Given the description of an element on the screen output the (x, y) to click on. 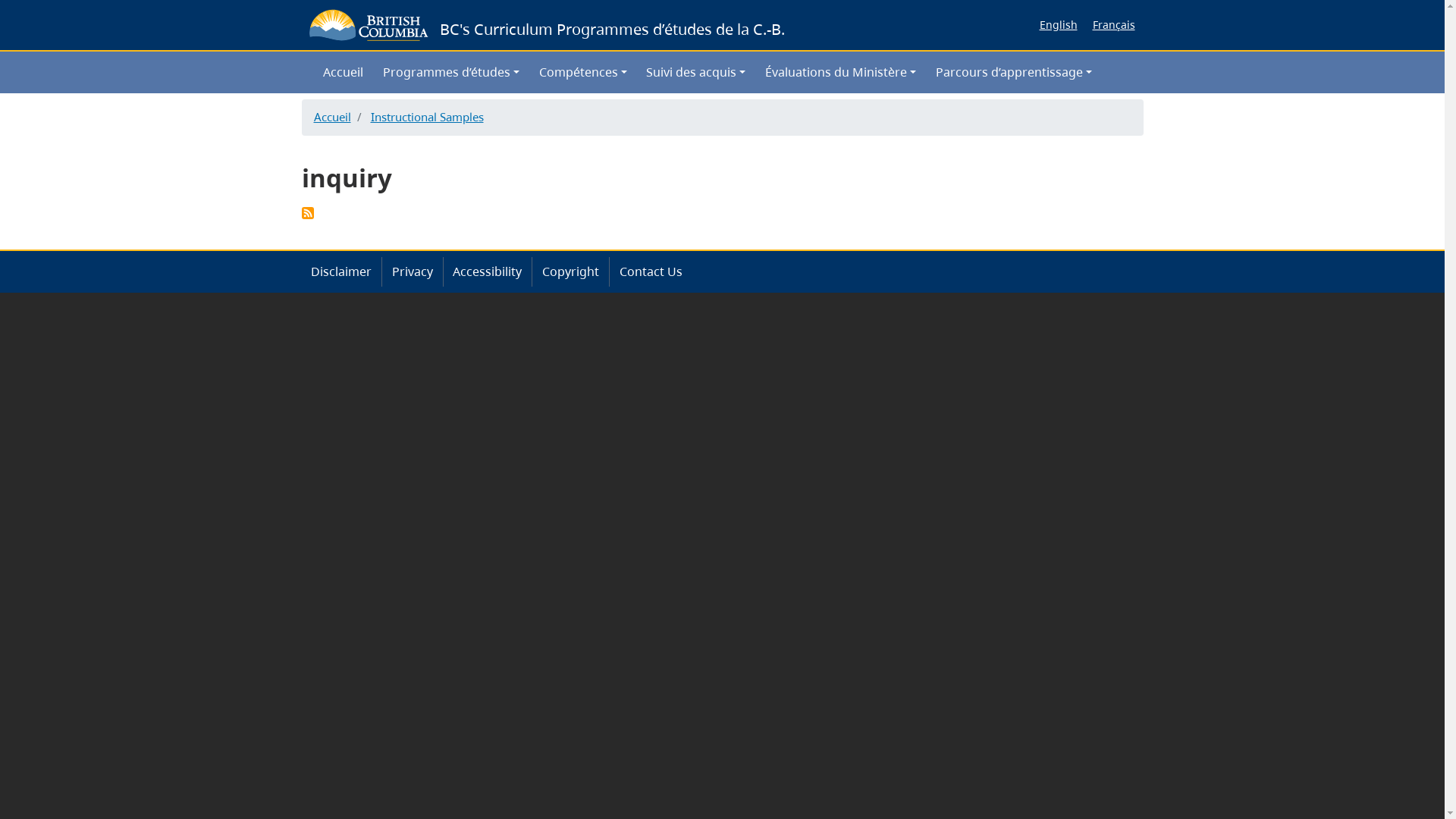
English Element type: text (1057, 24)
Instructional Samples Element type: text (426, 116)
Accueil Element type: text (343, 71)
Subscribe to inquiry Element type: text (307, 213)
Skip to main content Element type: text (721, 1)
Suivi des acquis Element type: text (695, 71)
Copyright Element type: text (570, 271)
Contact Us Element type: text (650, 271)
Accueil Element type: text (332, 116)
Disclaimer Element type: text (341, 271)
Privacy Element type: text (412, 271)
Accessibility Element type: text (487, 271)
